Given the description of an element on the screen output the (x, y) to click on. 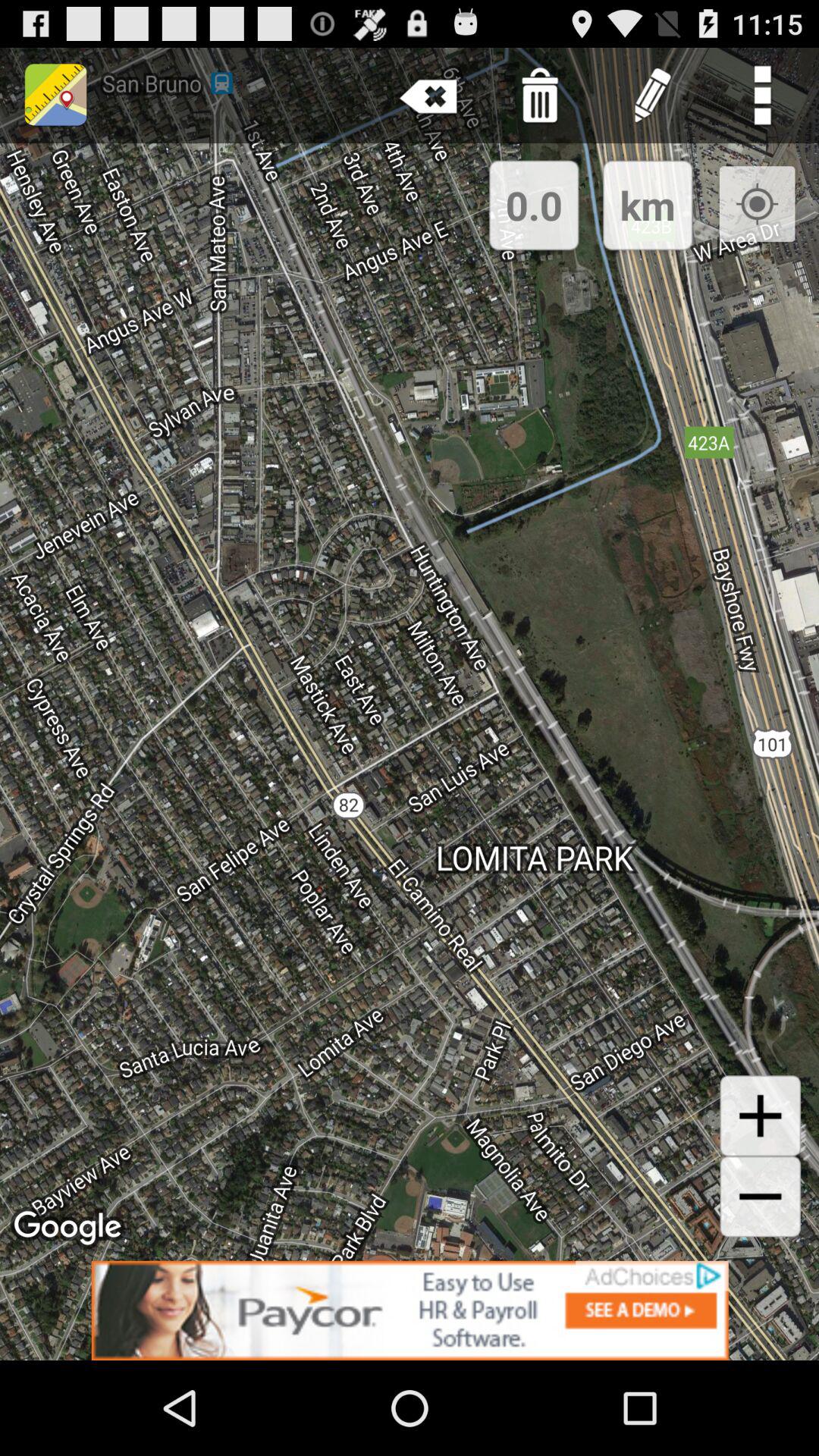
advertisement (409, 1310)
